Given the description of an element on the screen output the (x, y) to click on. 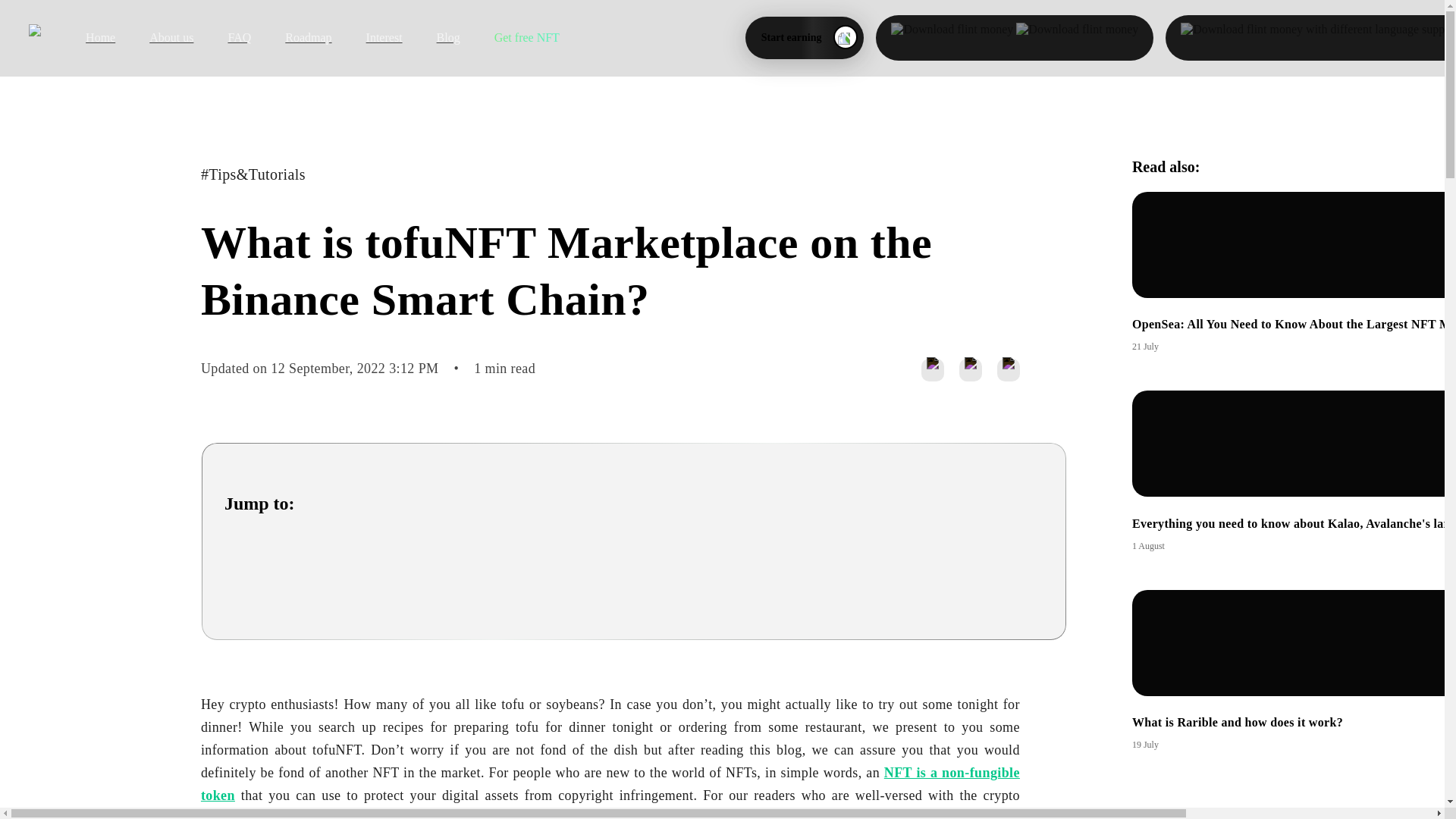
Home (82, 37)
Interest (367, 37)
Roadmap (290, 37)
FAQ (221, 37)
About us (154, 37)
Blog (431, 37)
NFT is a non-fungible token (1294, 670)
